Given the description of an element on the screen output the (x, y) to click on. 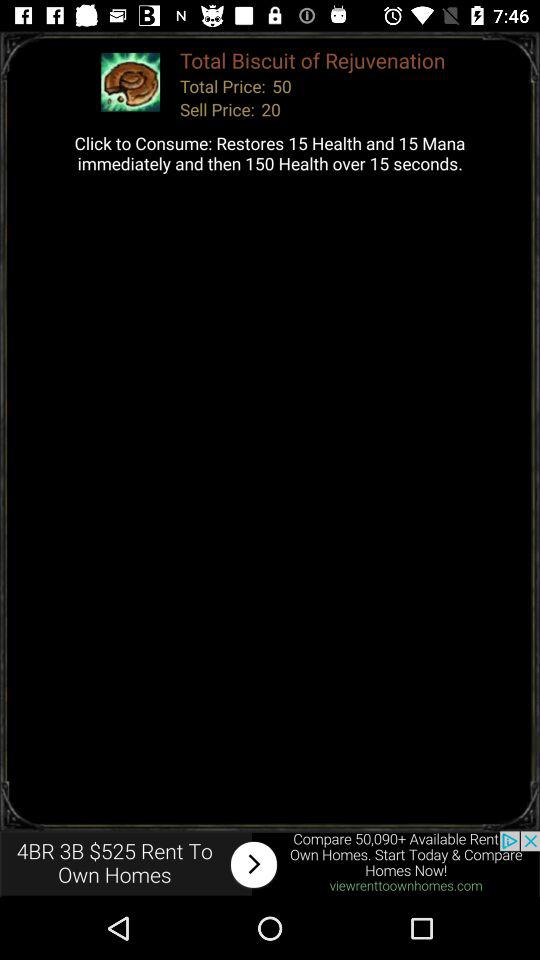
advertisement page (270, 864)
